Given the description of an element on the screen output the (x, y) to click on. 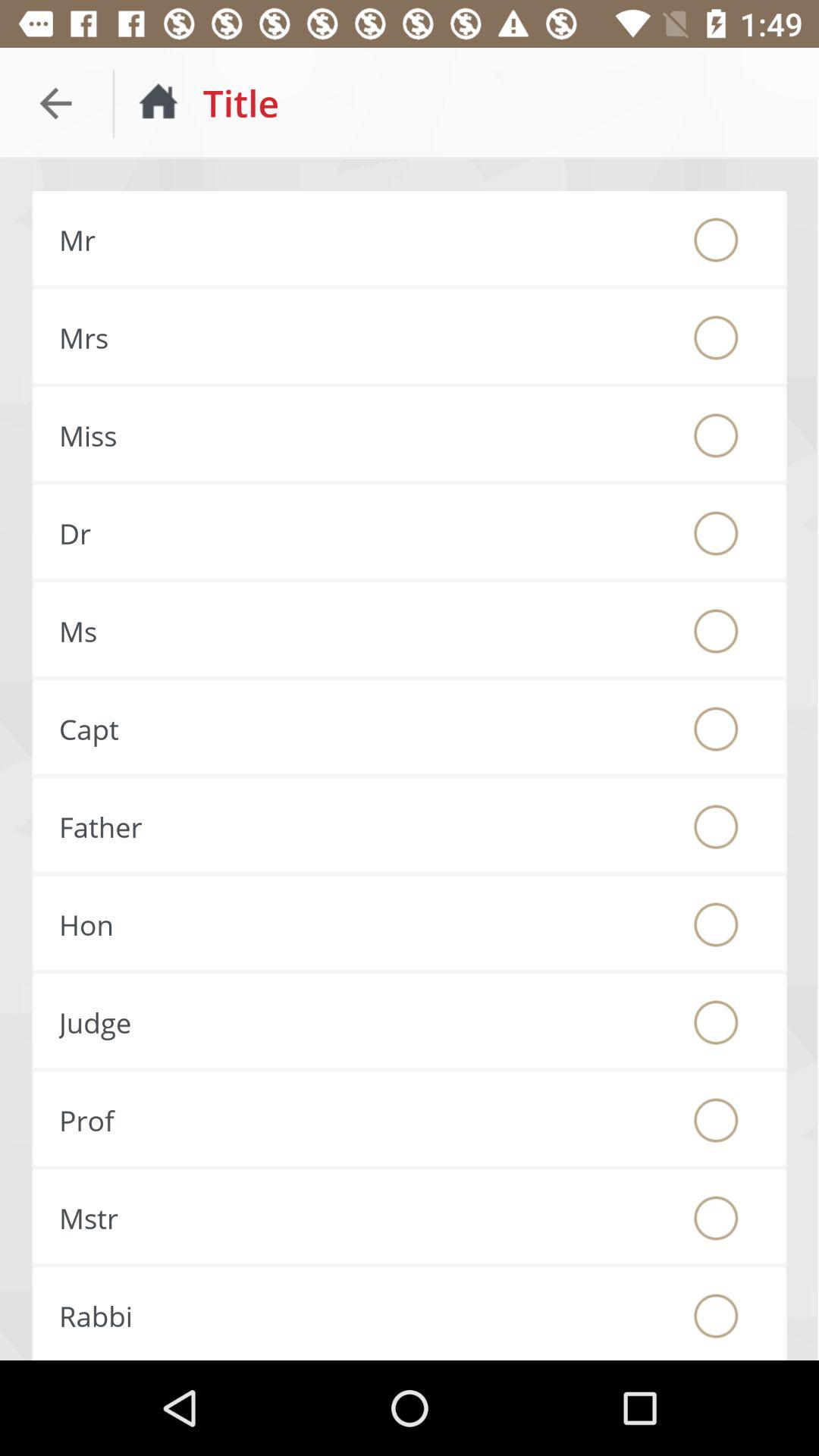
choose rabbi (715, 1315)
